Given the description of an element on the screen output the (x, y) to click on. 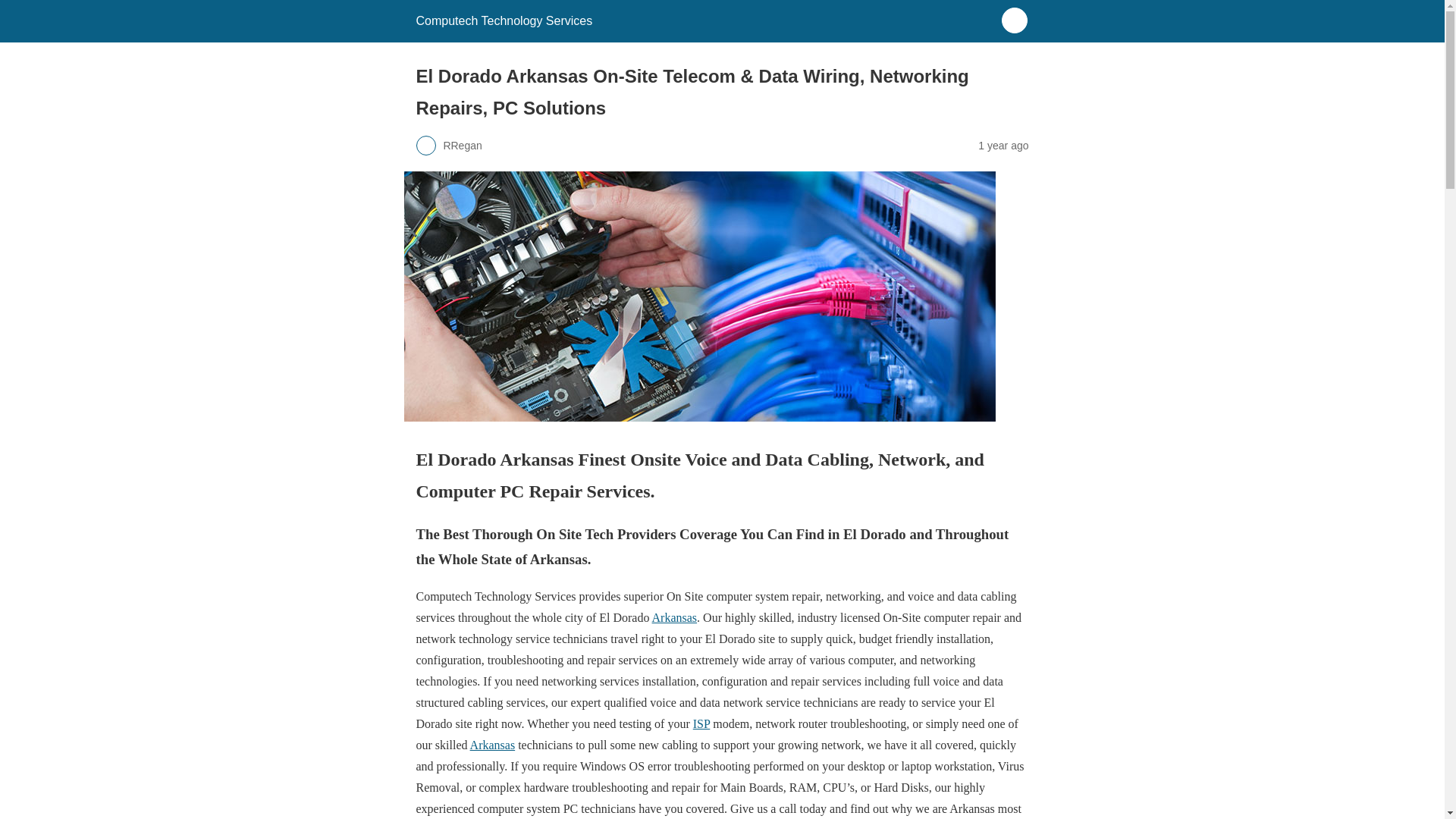
Arkansas (674, 617)
ISP (701, 723)
Arkansas (492, 744)
Computech Technology Services (503, 20)
